Given the description of an element on the screen output the (x, y) to click on. 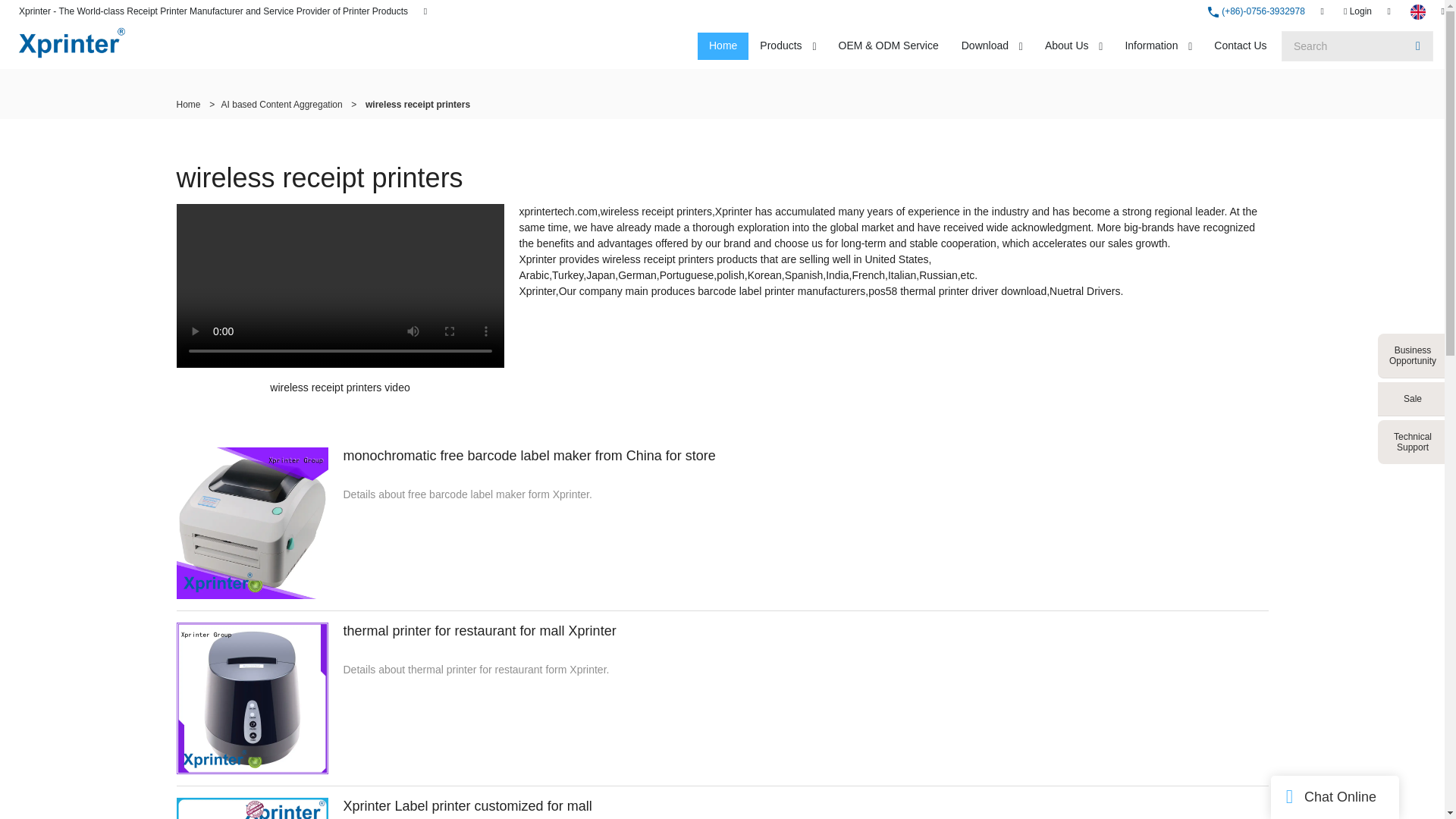
Download (985, 45)
Home (722, 45)
Login (1357, 10)
Products (780, 45)
